Given the description of an element on the screen output the (x, y) to click on. 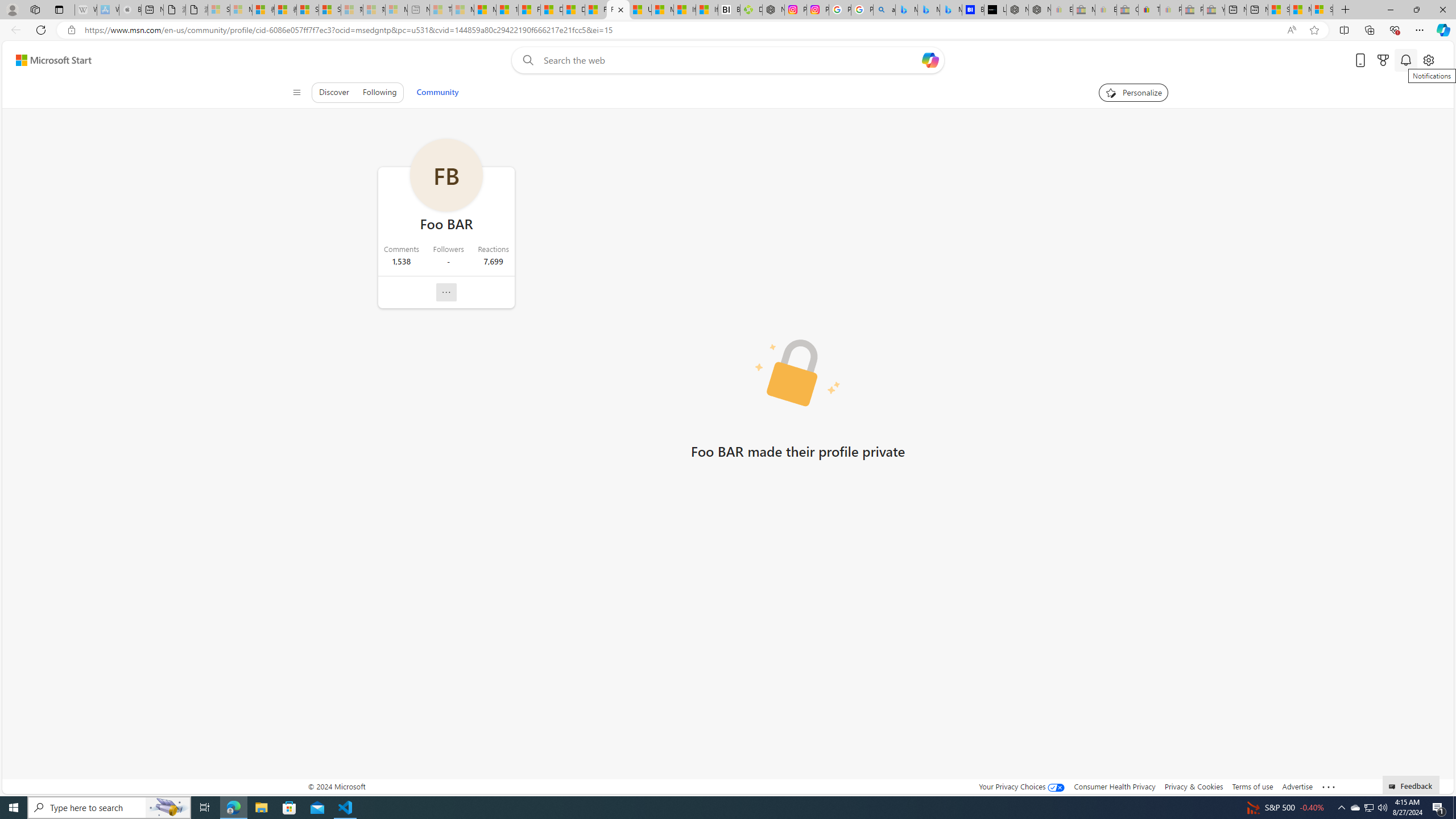
Nordace - Nordace Edin Collection (773, 9)
Food and Drink - MSN (529, 9)
Private profile picture (797, 373)
Class: feedback_link_icon-DS-EntryPoint1-1 (1393, 786)
